Given the description of an element on the screen output the (x, y) to click on. 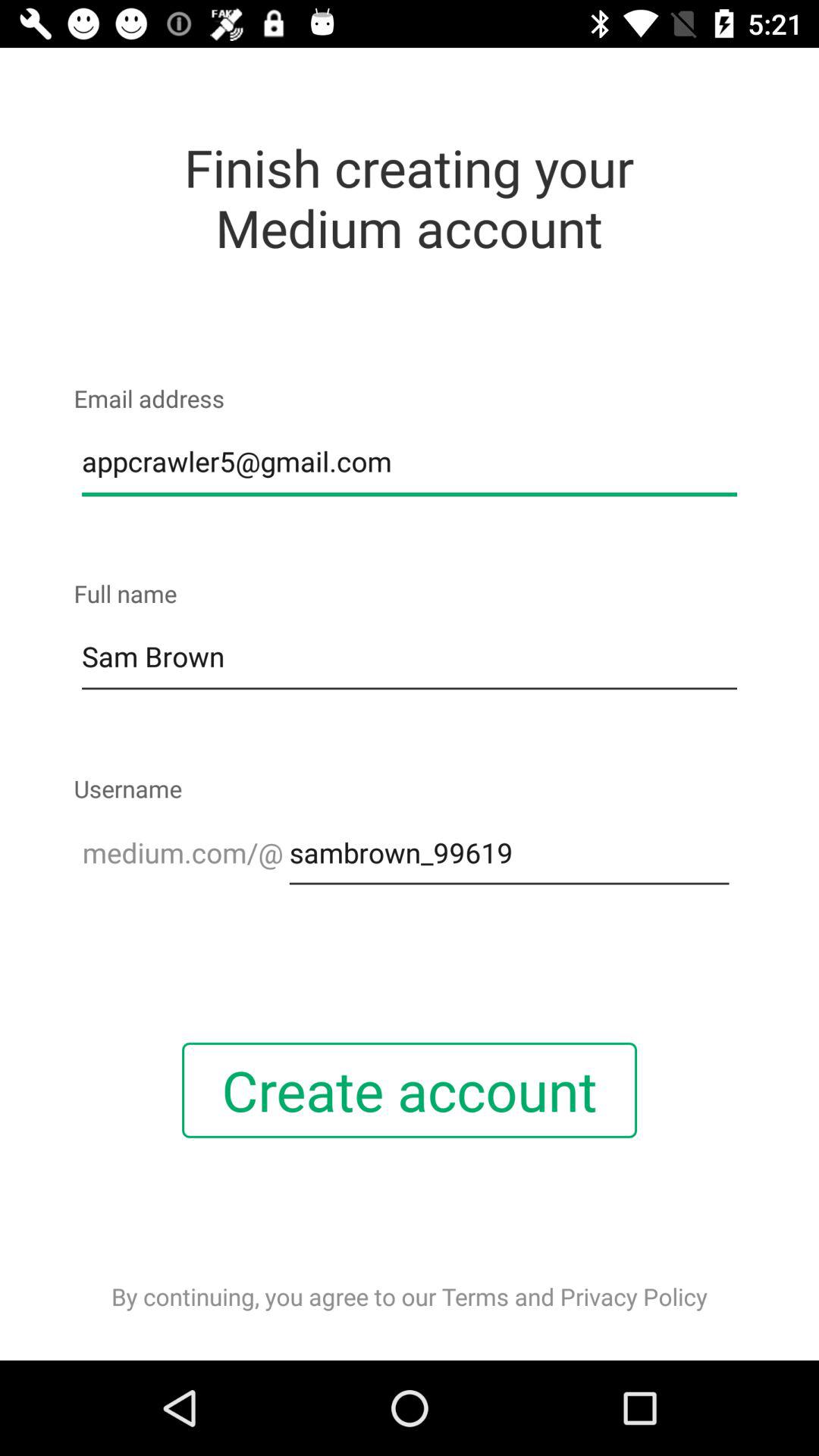
jump until appcrawler5@gmail.com item (409, 462)
